Given the description of an element on the screen output the (x, y) to click on. 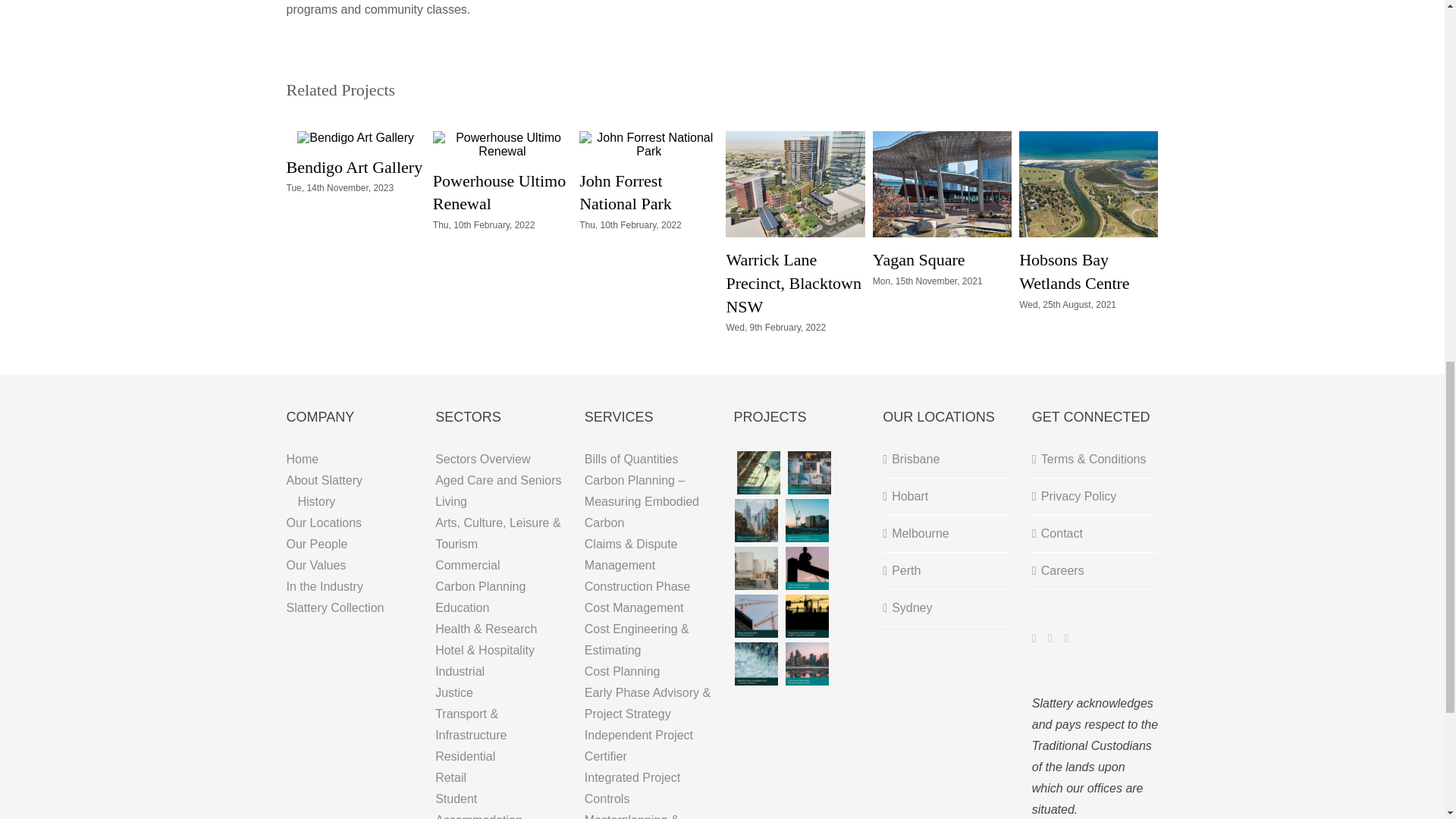
Powerhouse Ultimo Renewal (499, 192)
Yagan Square (918, 259)
Bendigo Art Gallery (354, 167)
Warrick Lane Precinct, Blacktown NSW (792, 283)
Hobsons Bay Wetlands Centre (1074, 271)
Slattery embodied carbon: Retrofitting reimagined (755, 520)
John Forrest National Park (625, 192)
